Given the description of an element on the screen output the (x, y) to click on. 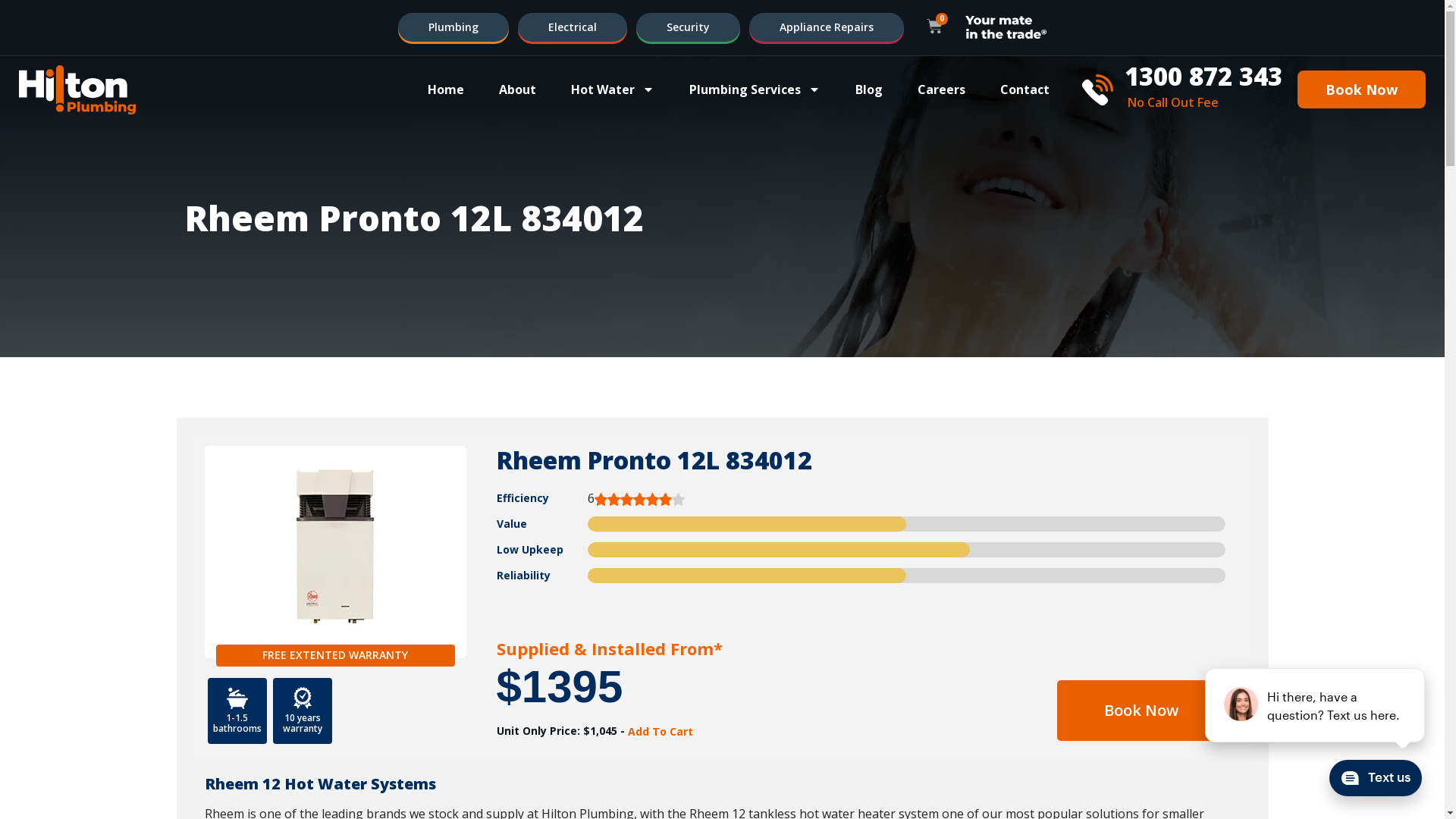
Rheem Pronto 12L 834012 Element type: text (653, 459)
Contact Element type: text (1024, 89)
Appliance Repairs Element type: text (826, 26)
About Element type: text (517, 89)
Careers Element type: text (941, 89)
 Add To Cart Element type: text (658, 731)
Blog Element type: text (868, 89)
Book Now Element type: text (1141, 710)
Security Element type: text (688, 26)
Electrical Element type: text (572, 26)
Plumbing Element type: text (453, 26)
Hot Water Element type: text (612, 89)
1300 872 343
No Call Out Fee Element type: text (1182, 89)
Book Now Element type: text (1361, 89)
Plumbing Services Element type: text (754, 89)
Home Element type: text (445, 89)
podium webchat widget prompt Element type: hover (1315, 705)
0 Element type: text (934, 27)
